Given the description of an element on the screen output the (x, y) to click on. 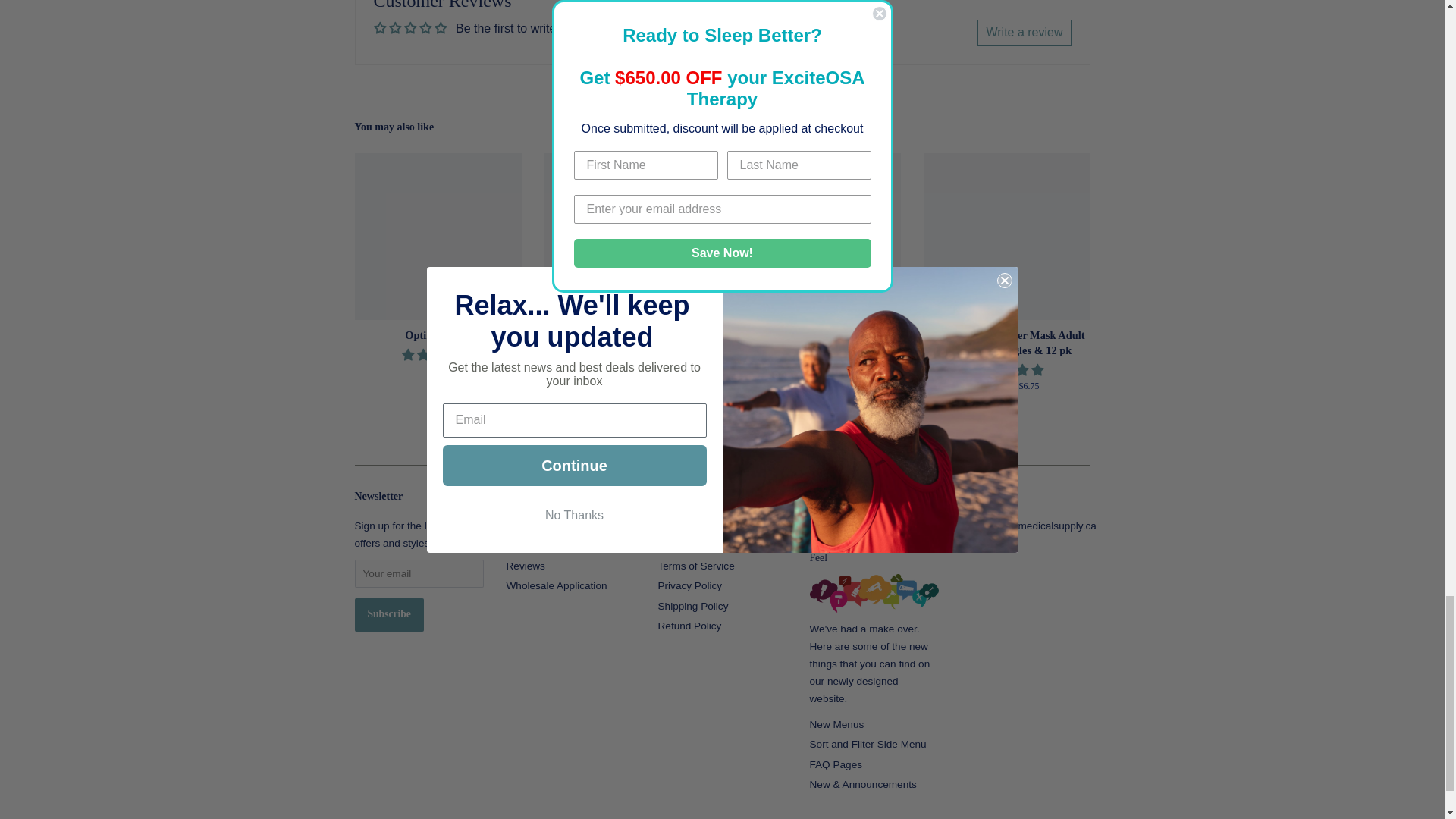
Subscribe (389, 614)
